Given the description of an element on the screen output the (x, y) to click on. 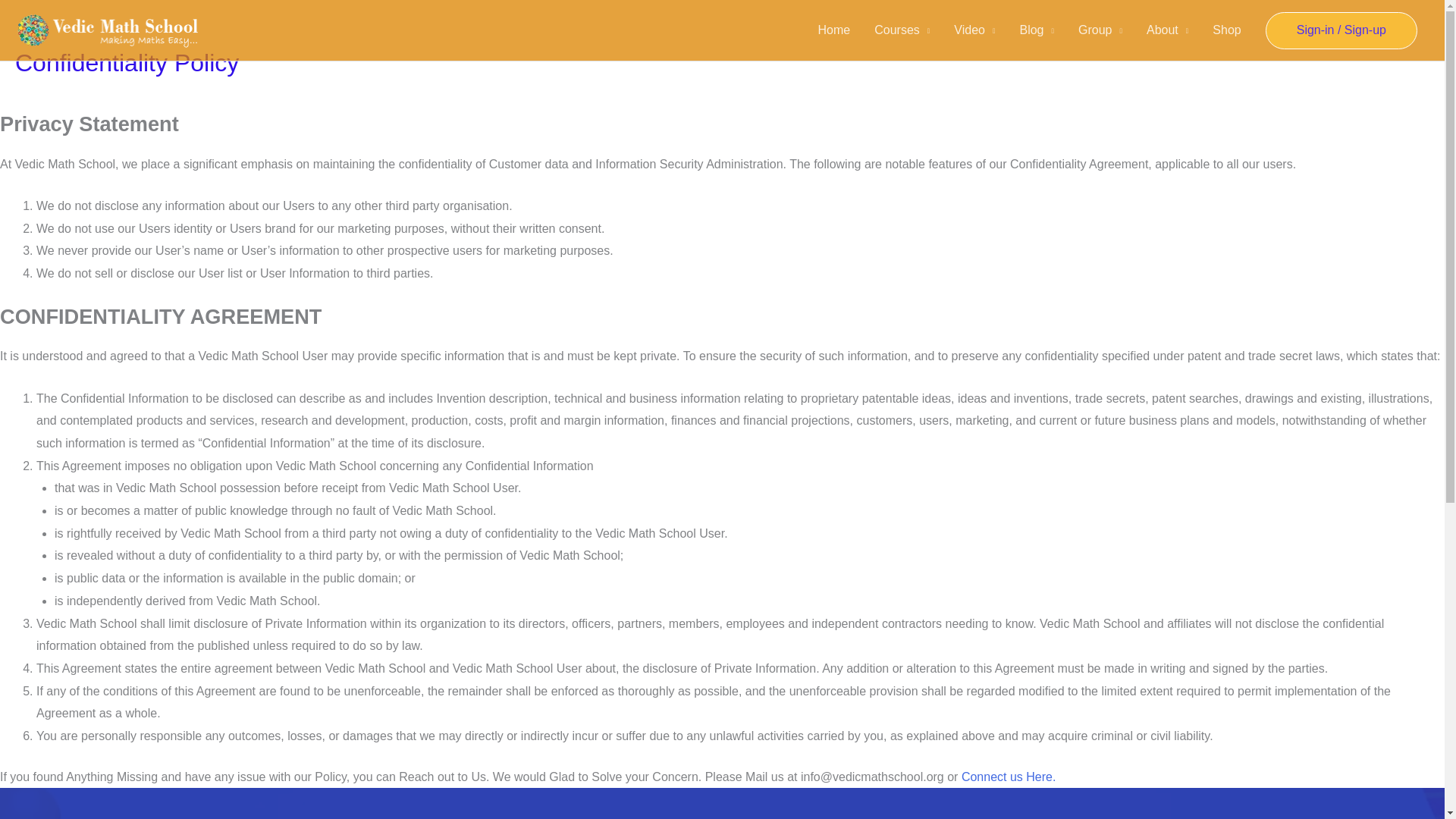
Shop (1225, 29)
Video (974, 29)
Courses (901, 29)
About (1166, 29)
Home (834, 29)
Blog (1036, 29)
Group (1099, 29)
Connect us Here. (1008, 776)
